Given the description of an element on the screen output the (x, y) to click on. 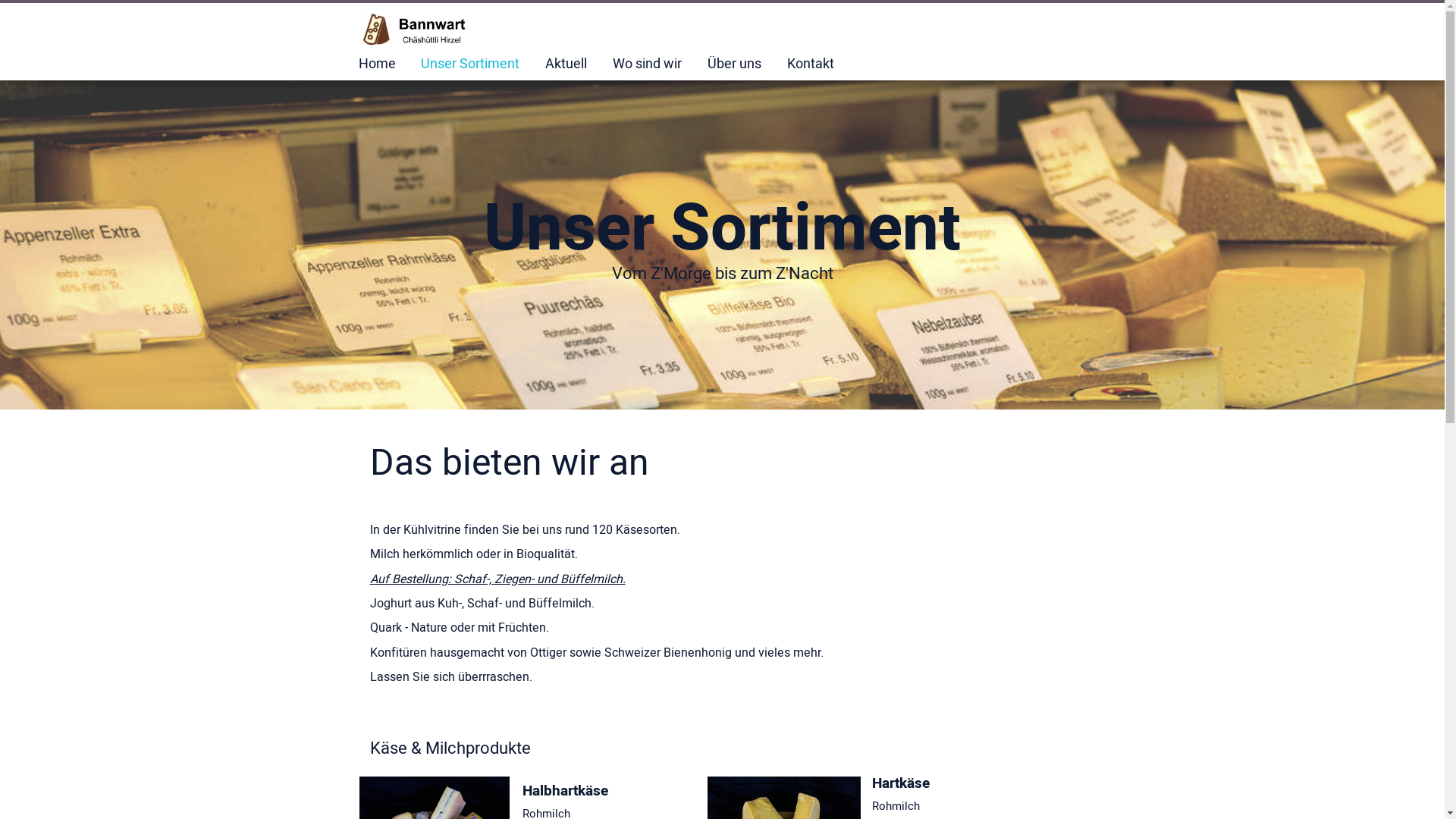
Kontakt Element type: text (810, 63)
Unser Sortiment Element type: text (469, 63)
Home Element type: text (376, 63)
Aktuell Element type: text (565, 63)
Wo sind wir Element type: text (646, 63)
